Given the description of an element on the screen output the (x, y) to click on. 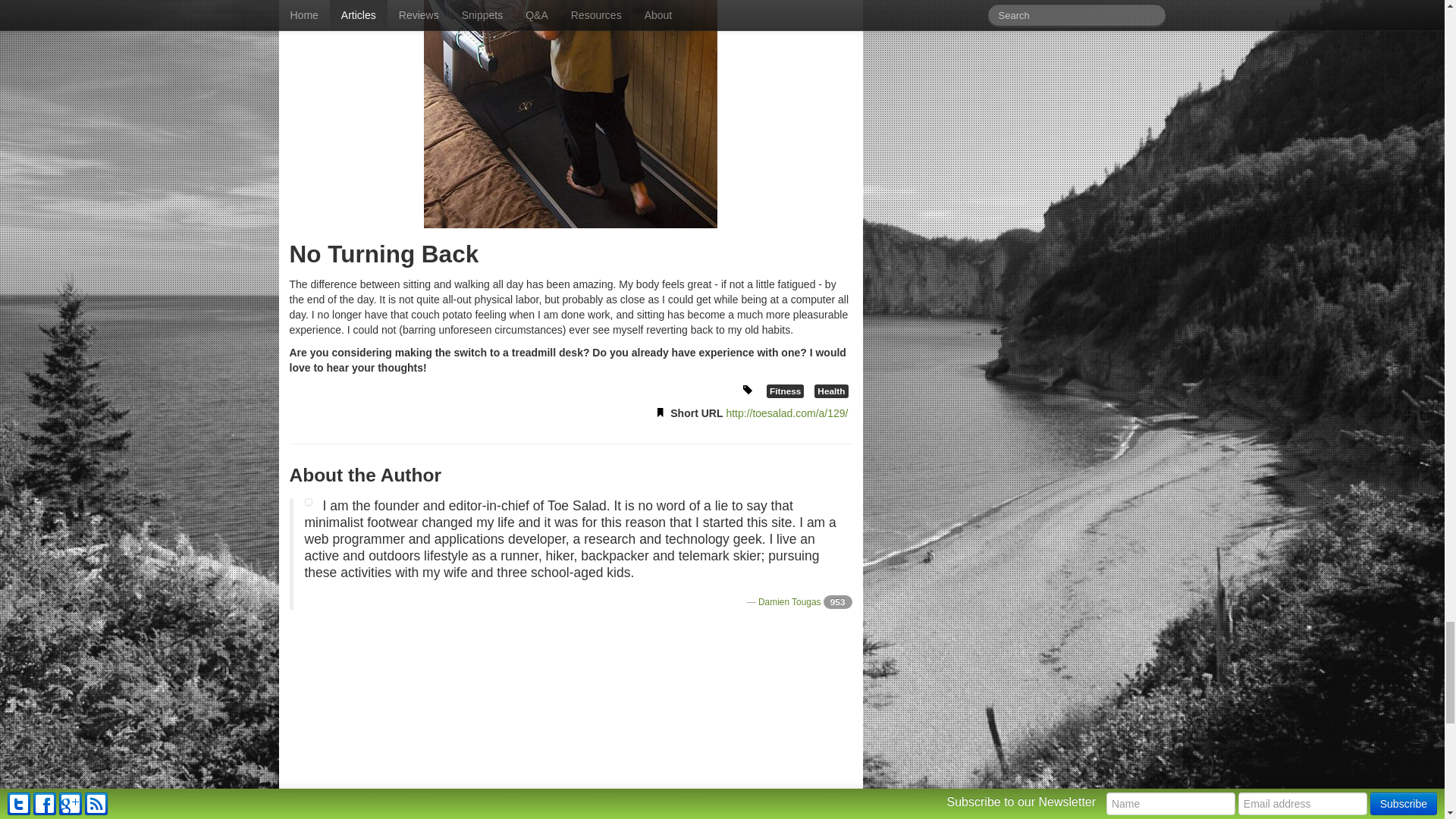
Fitness (785, 390)
Health (830, 390)
Treadmill Desk - Back View (570, 114)
Damien Tougas (789, 602)
